Given the description of an element on the screen output the (x, y) to click on. 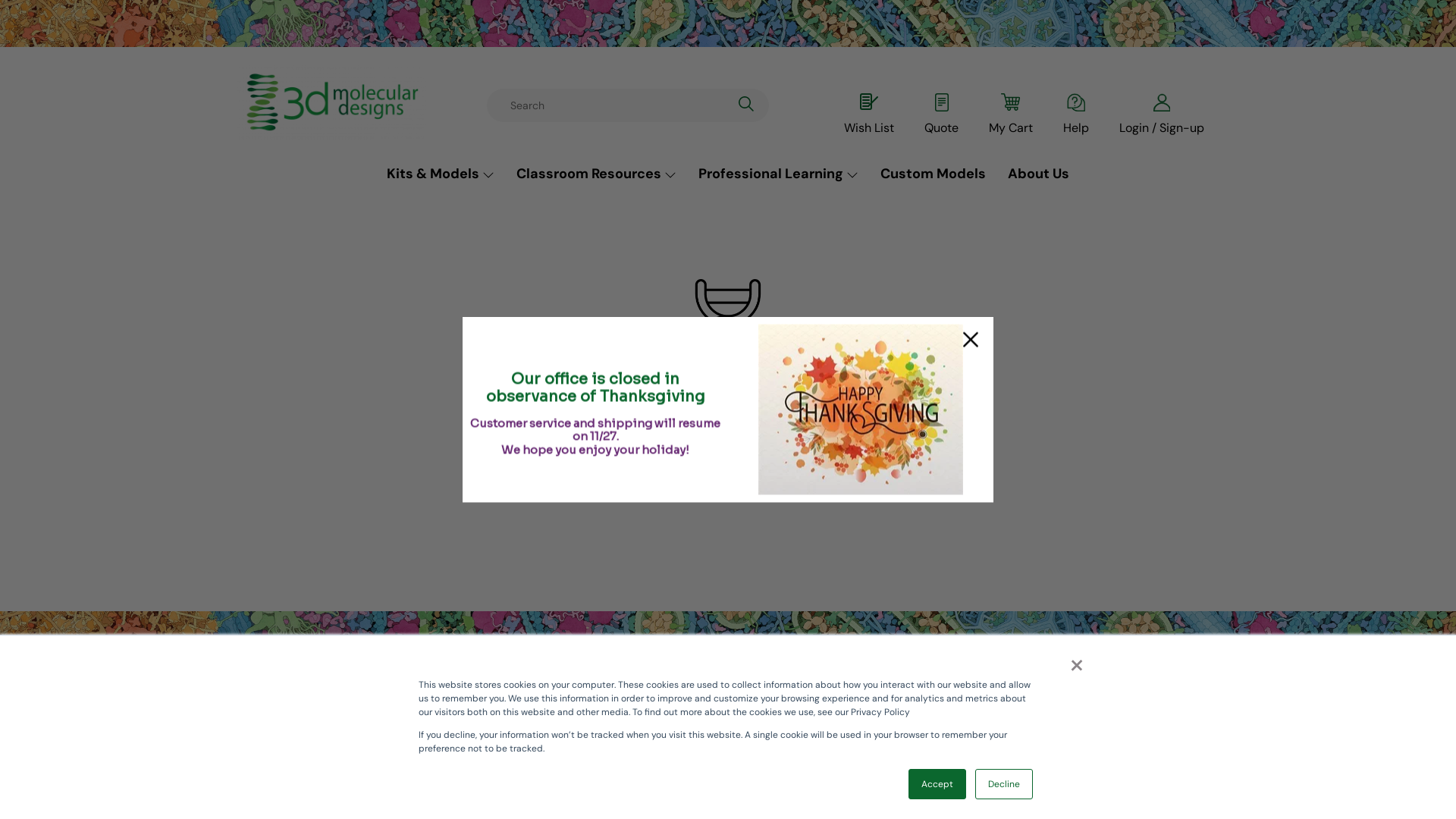
Decline Element type: text (1003, 783)
Classroom Resources Element type: text (596, 173)
Accept Element type: text (937, 783)
Quote Element type: text (941, 114)
go to homepage Element type: text (881, 489)
Subscribe Now Element type: text (799, 716)
Custom Models Element type: text (932, 173)
Login / Sign-up Element type: text (1161, 114)
My Cart Element type: text (1010, 114)
About Us Element type: text (1038, 173)
Professional Learning Element type: text (778, 173)
Wish List Element type: text (869, 114)
Kits & Models Element type: text (440, 173)
Help Element type: text (1075, 114)
